Given the description of an element on the screen output the (x, y) to click on. 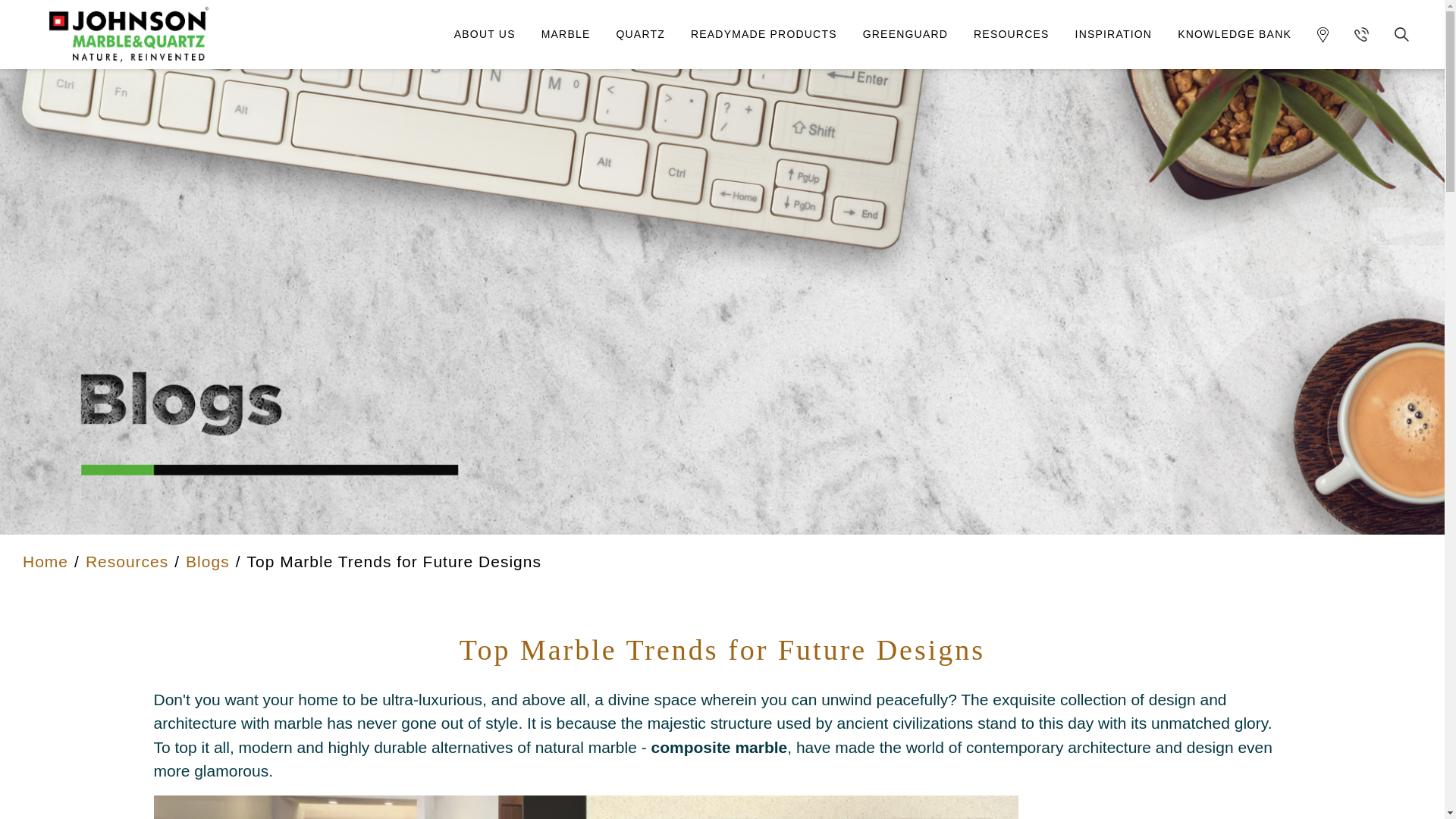
READYMADE PRODUCTS (764, 34)
INSPIRATION (1114, 34)
Blogs (208, 561)
ABOUT US (484, 34)
KNOWLEDGE BANK (1234, 34)
GREENGUARD (905, 34)
QUARTZ (640, 34)
Home (45, 561)
RESOURCES (1010, 34)
MARBLE (566, 34)
Resources (126, 561)
